Given the description of an element on the screen output the (x, y) to click on. 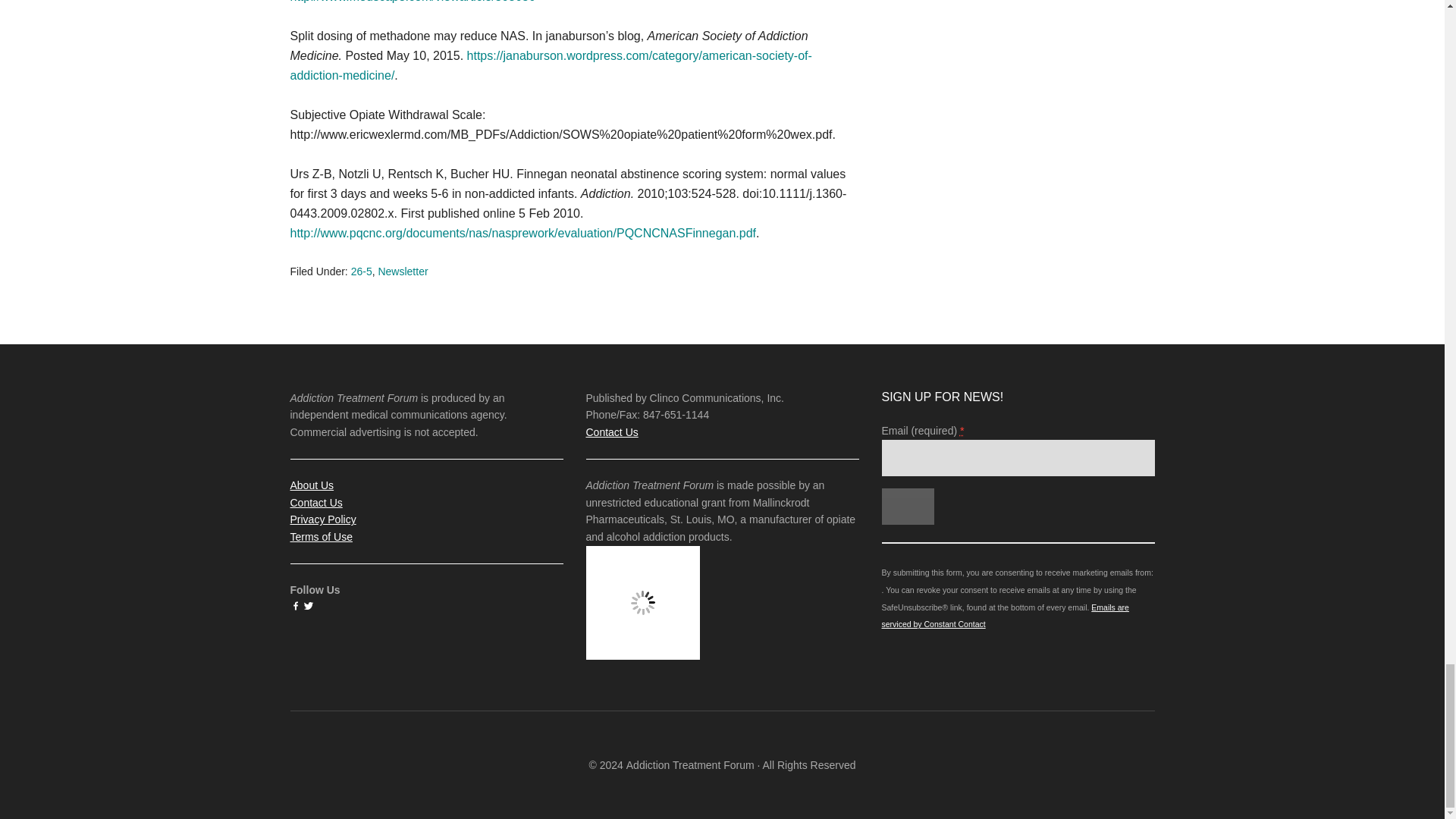
26-5 (361, 271)
Newsletter (402, 271)
Go (907, 506)
